Given the description of an element on the screen output the (x, y) to click on. 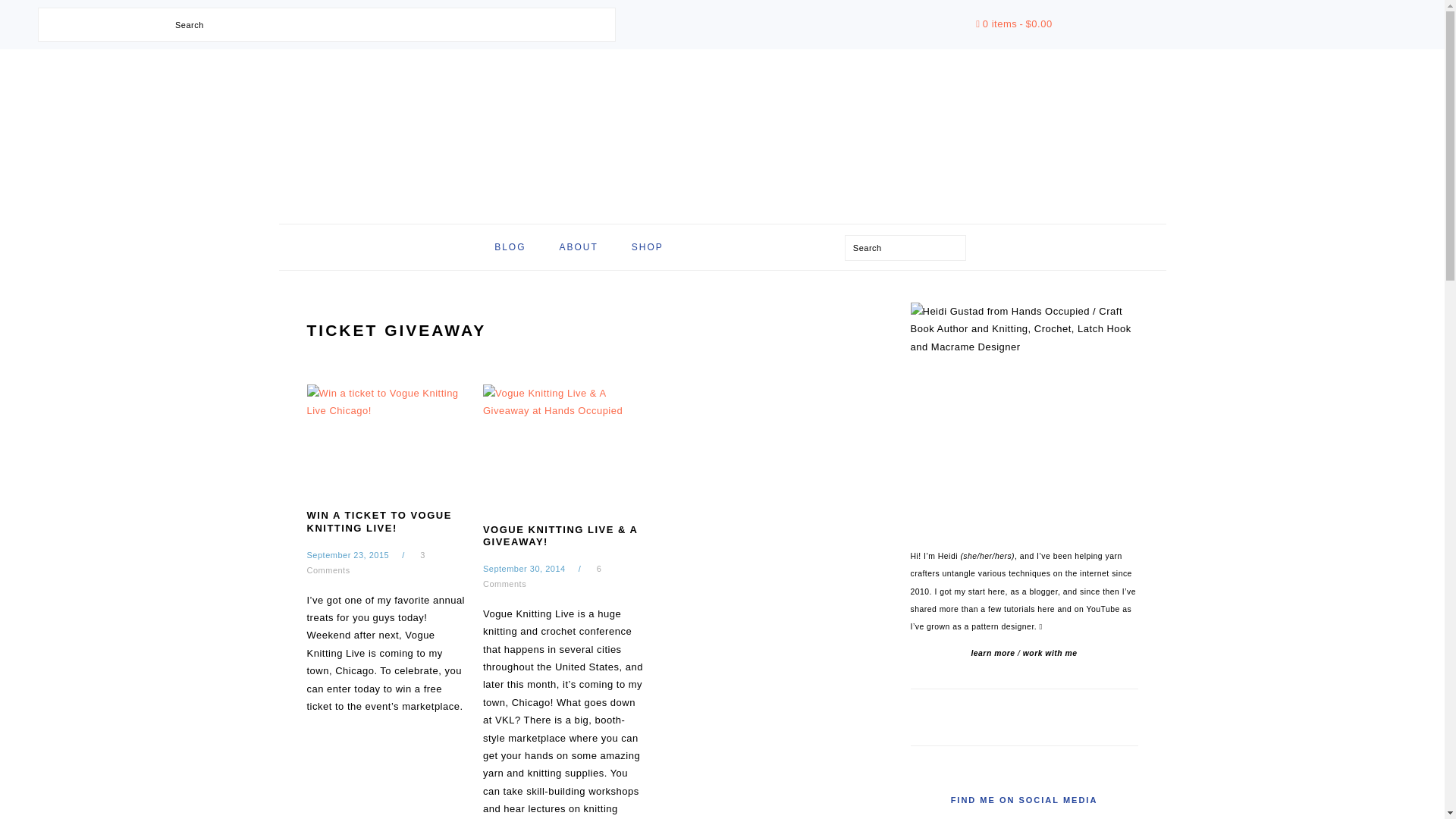
SHOP (647, 247)
BLOG (510, 247)
Start shopping (1013, 23)
ABOUT (577, 247)
learn more (992, 653)
3 Comments (365, 562)
work with me (1050, 653)
HANDS OCCUPIED (721, 132)
